Given the description of an element on the screen output the (x, y) to click on. 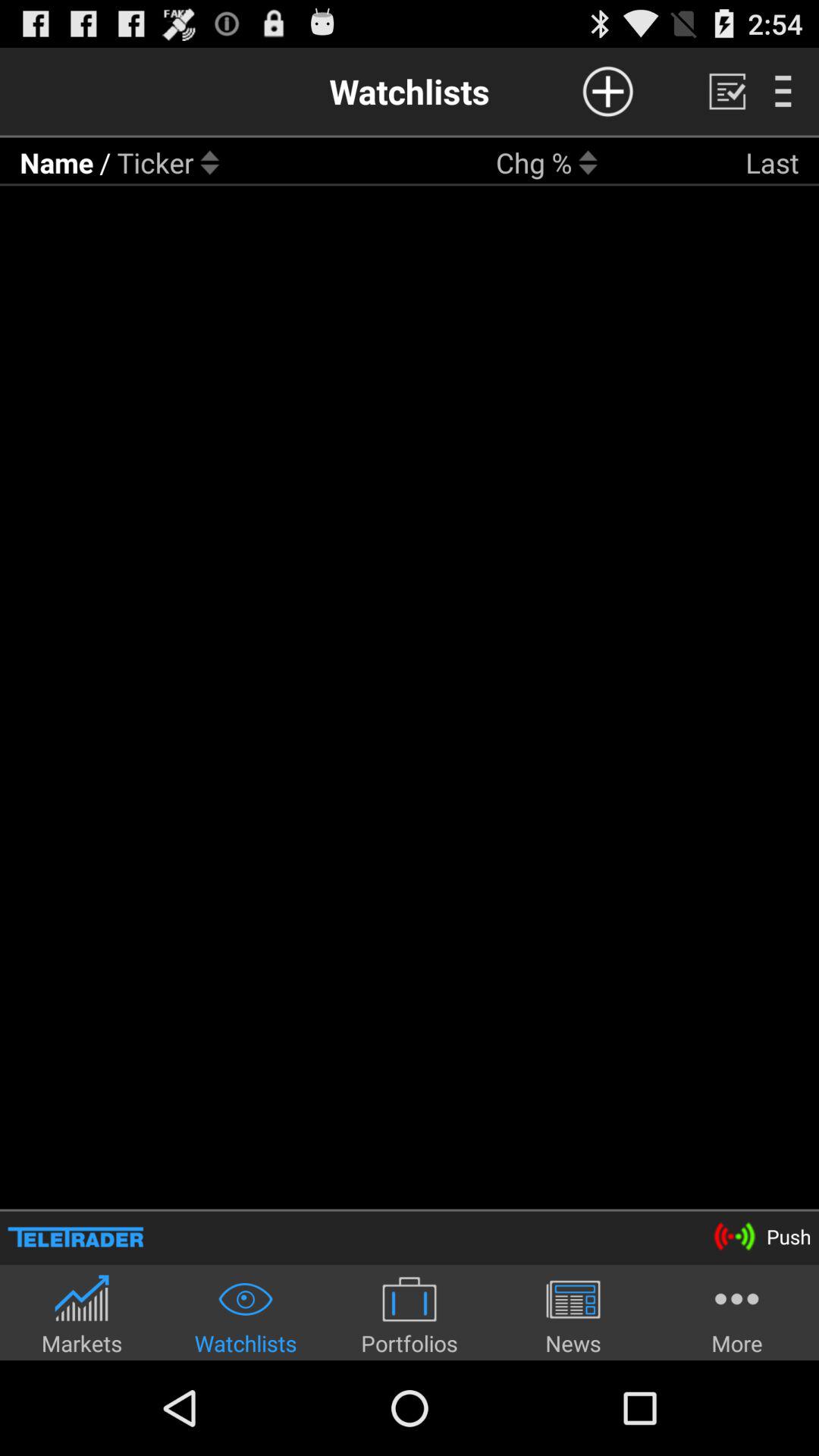
select item next to news app (409, 1314)
